Given the description of an element on the screen output the (x, y) to click on. 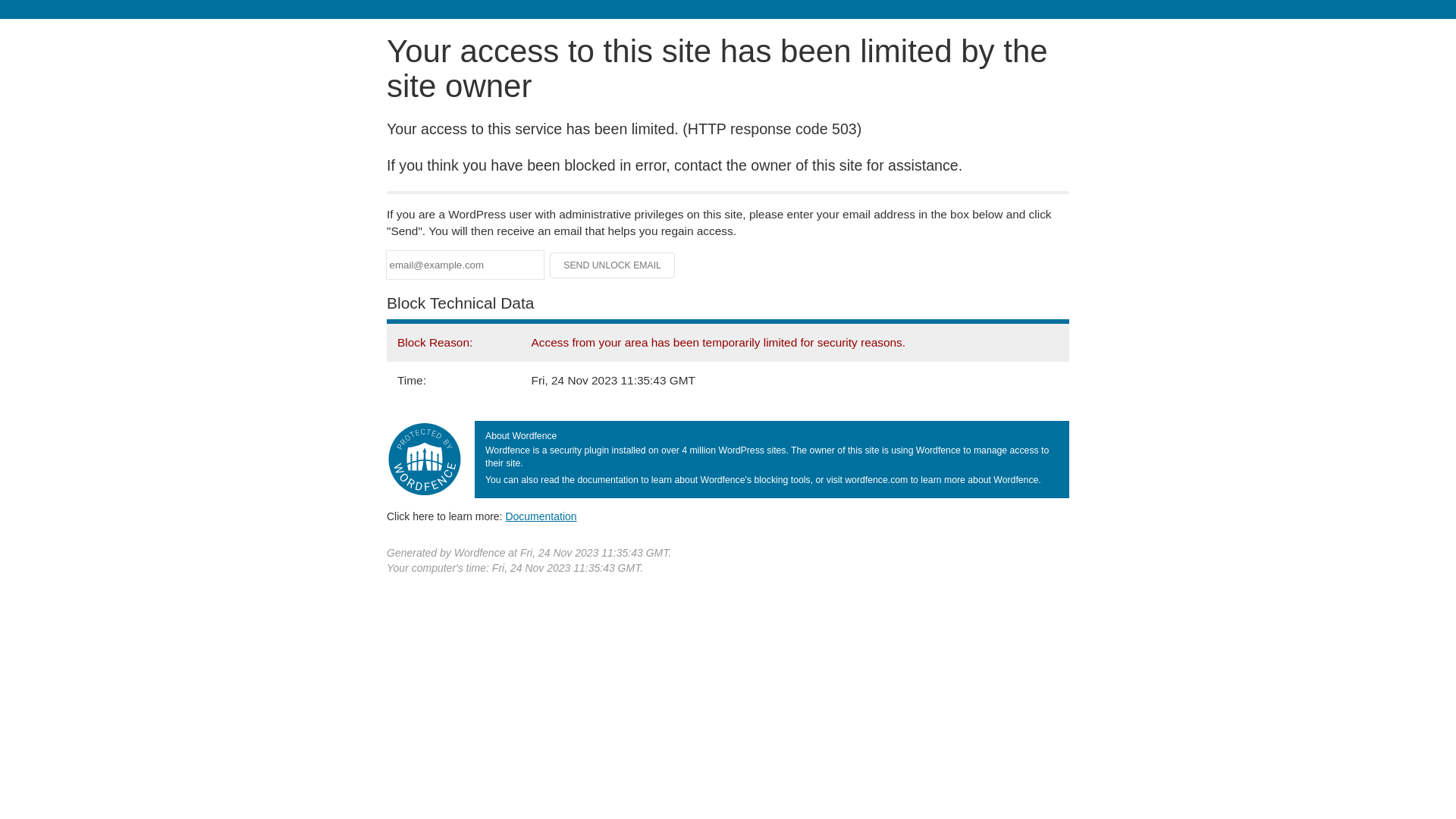
Send Unlock Email Element type: text (612, 265)
Documentation Element type: text (540, 516)
